Given the description of an element on the screen output the (x, y) to click on. 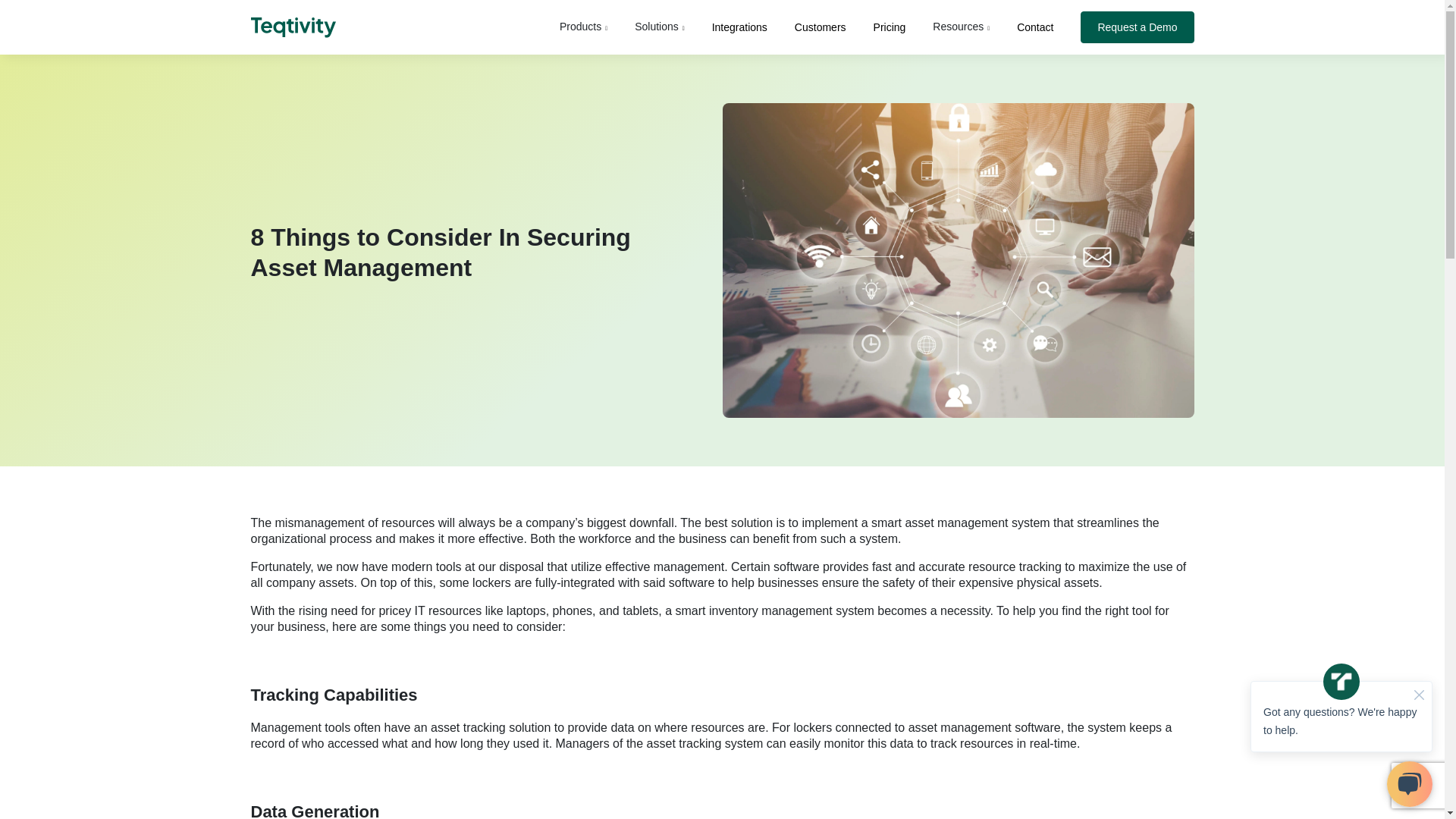
Request a Demo (1136, 27)
Contact (1034, 27)
Products (583, 25)
Integrations (739, 27)
Resources (961, 25)
Customers (819, 27)
Pricing (889, 27)
Solutions (659, 25)
